Given the description of an element on the screen output the (x, y) to click on. 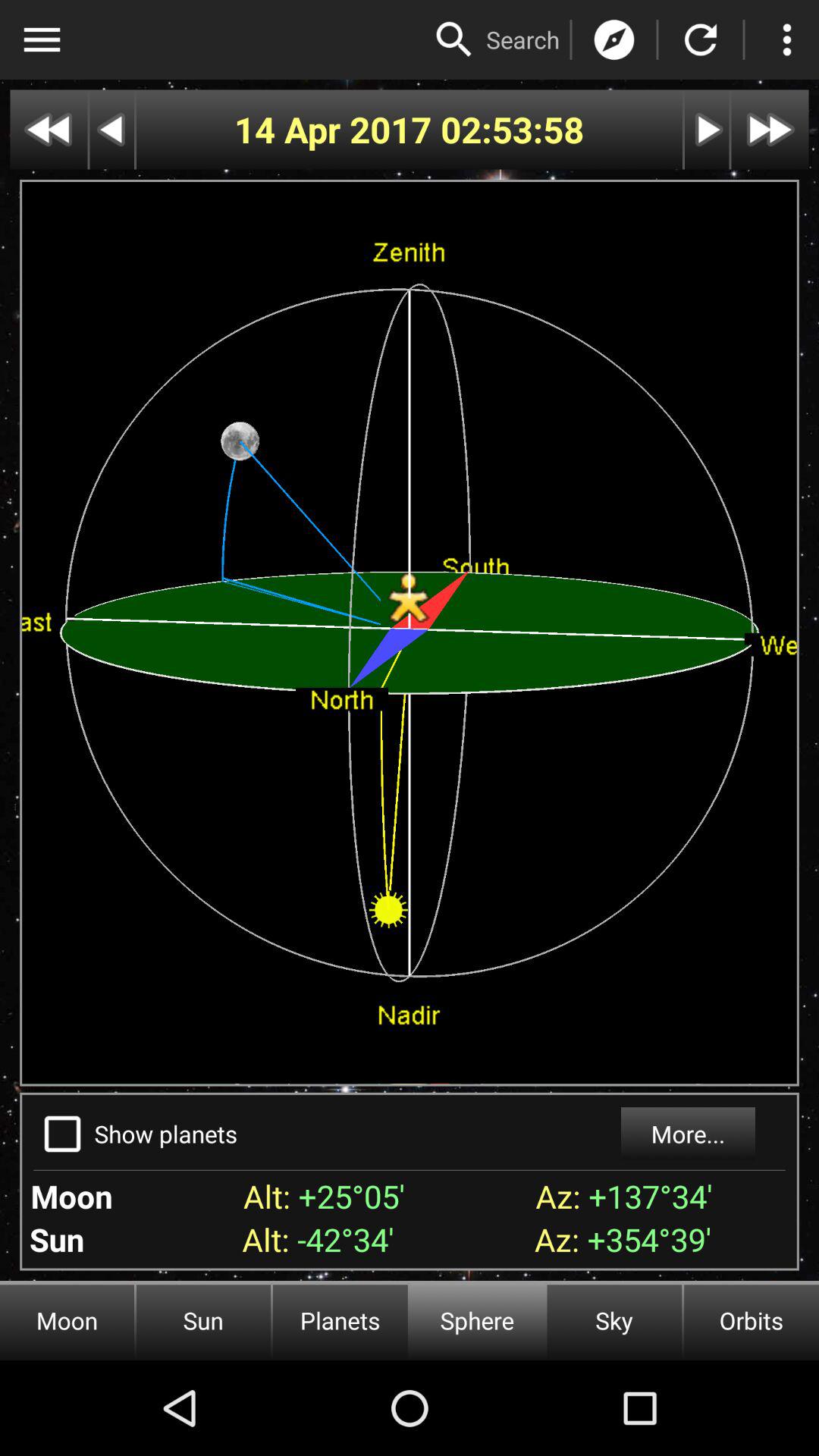
flip to show planets app (165, 1133)
